Given the description of an element on the screen output the (x, y) to click on. 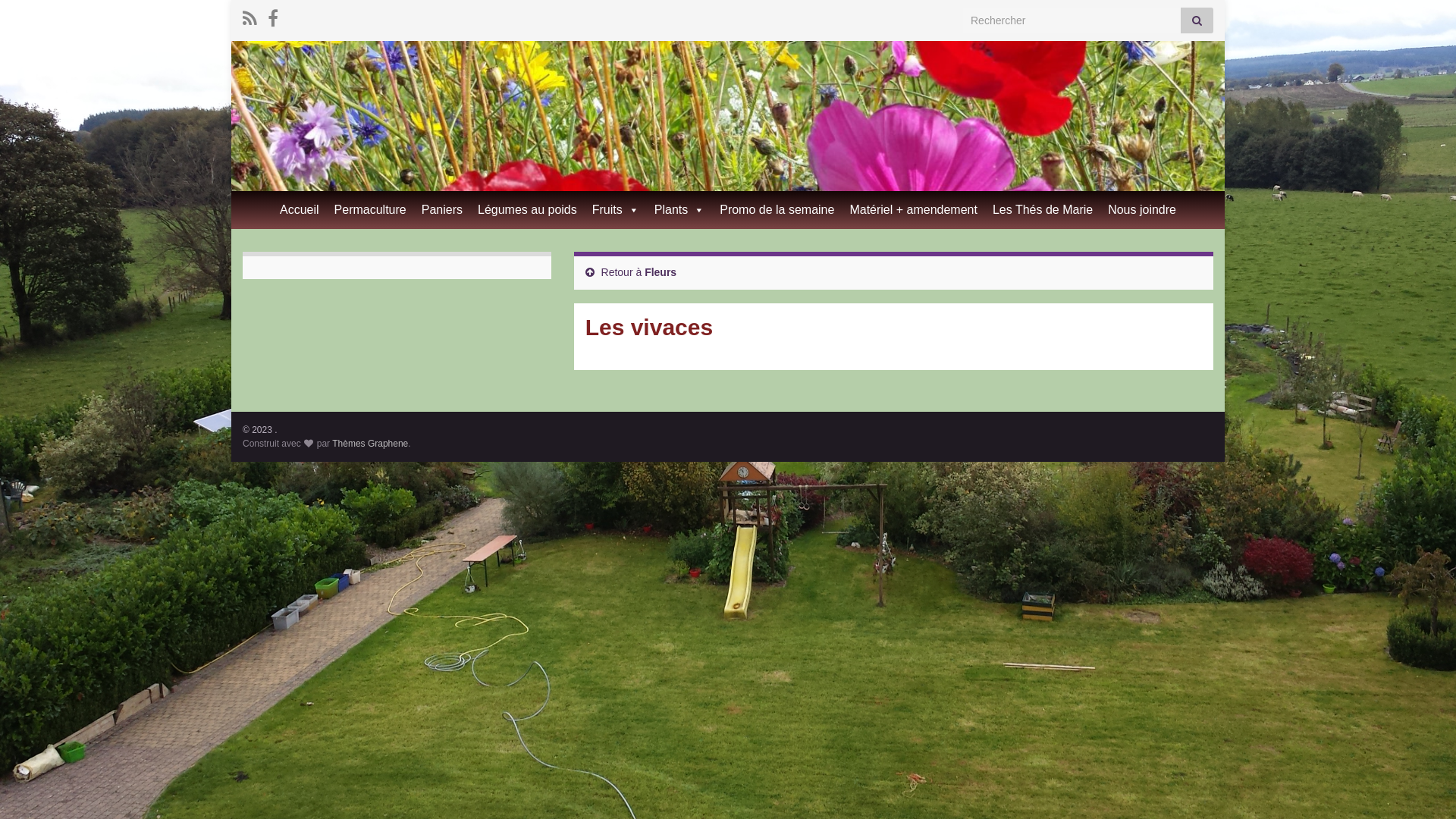
Plants Element type: text (679, 210)
Fruits Element type: text (615, 210)
Fleurs Element type: text (660, 272)
Paniers Element type: text (442, 210)
Permaculture Element type: text (370, 210)
Promo de la semaine Element type: text (776, 210)
Accueil Element type: text (299, 210)
facebook Element type: hover (272, 16)
Subscribe to A La Main Verte's RSS feed Element type: hover (249, 16)
  Element type: text (727, 115)
Nous joindre Element type: text (1141, 210)
